Given the description of an element on the screen output the (x, y) to click on. 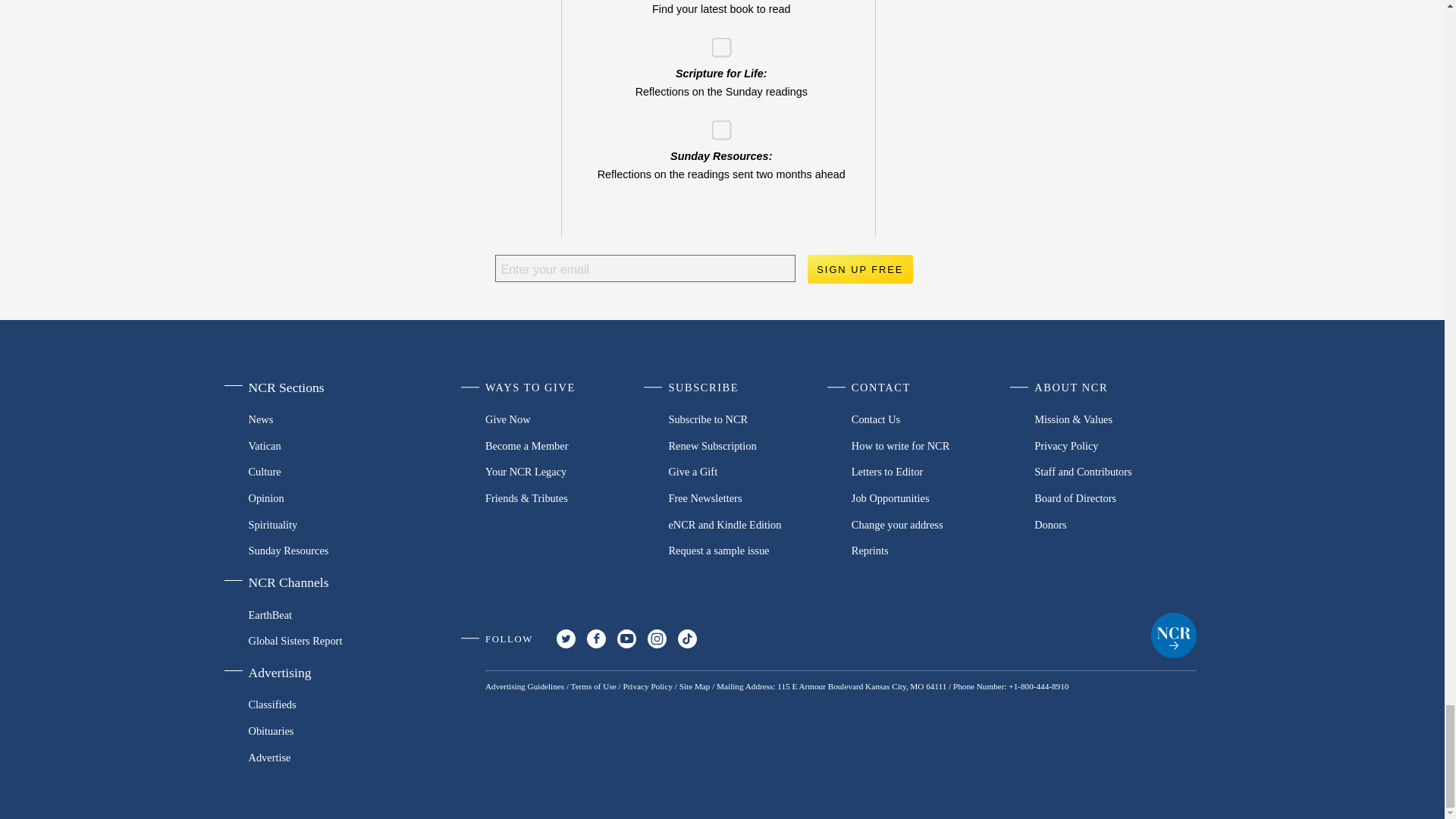
How to write for NCR (932, 445)
dfa4c56aff (715, 124)
Donors (1114, 524)
c25324053e (715, 41)
Change your address (932, 524)
Advertise with NCR (324, 756)
Sign up free (859, 268)
Request a sample issue of NCR (748, 550)
Request a reprint of NCR content (932, 550)
